Given the description of an element on the screen output the (x, y) to click on. 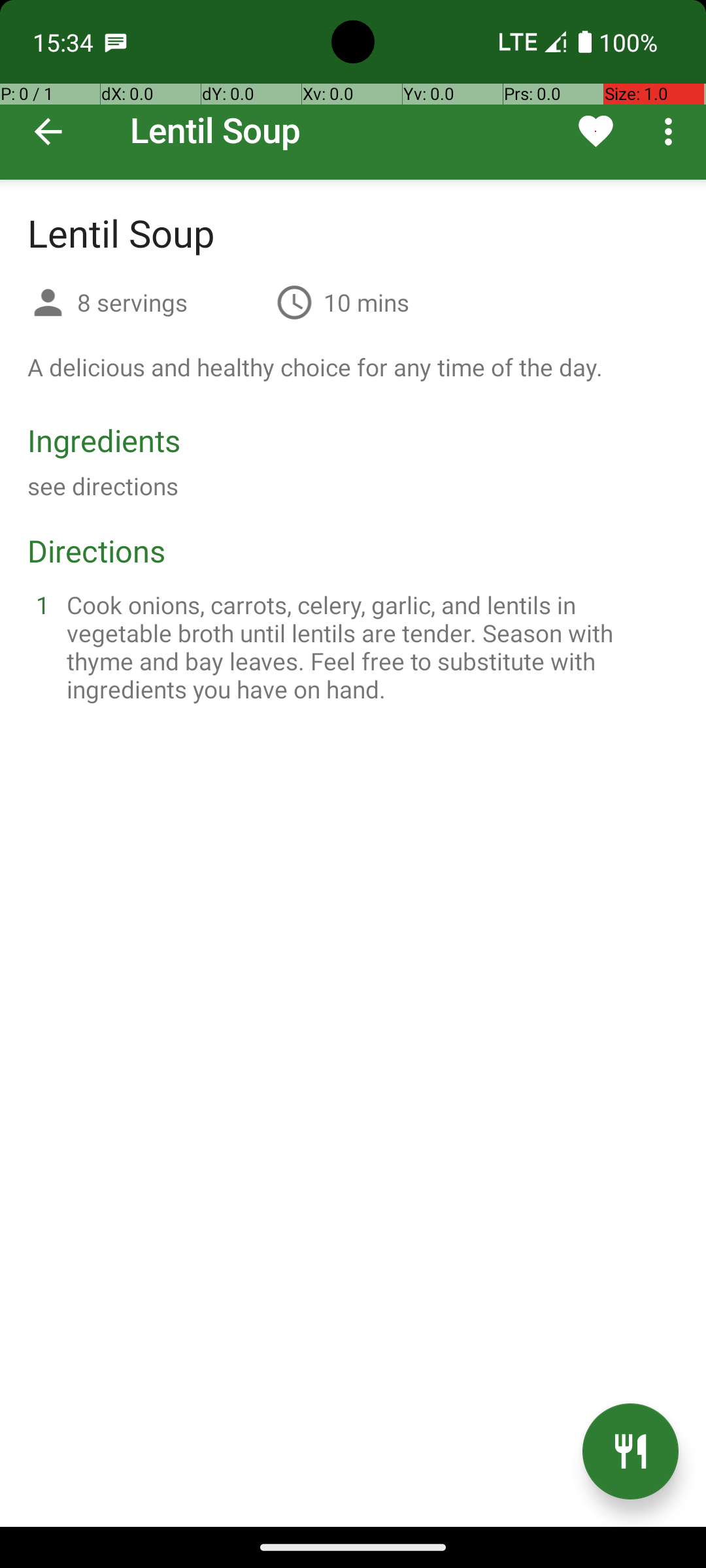
Cook onions, carrots, celery, garlic, and lentils in vegetable broth until lentils are tender. Season with thyme and bay leaves. Feel free to substitute with ingredients you have on hand. Element type: android.widget.TextView (368, 646)
